Given the description of an element on the screen output the (x, y) to click on. 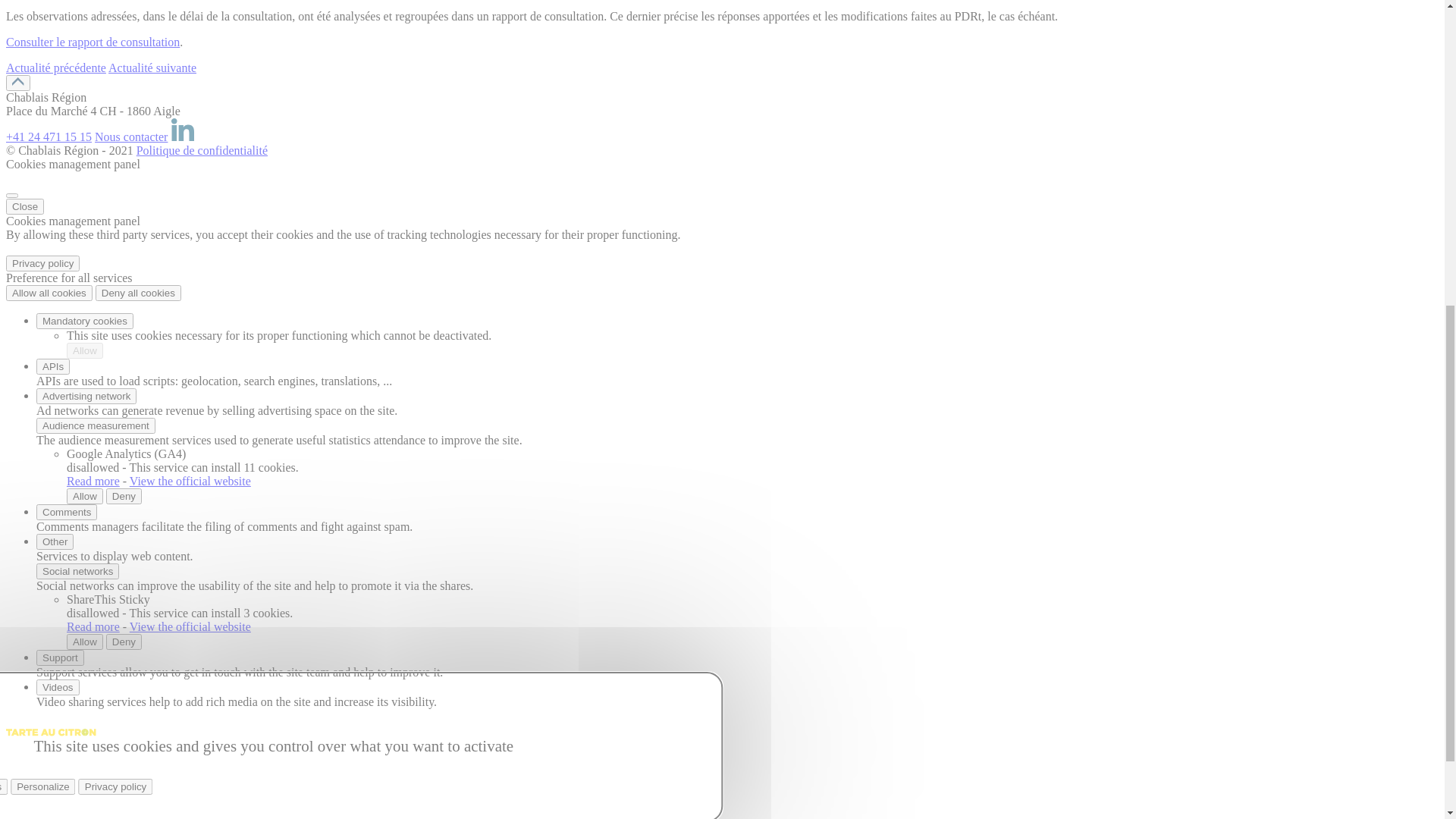
Aller sur le portail immobilier Element type: hover (17, 317)
Gouvernance Element type: text (98, 195)
Nos projets Element type: text (94, 263)
Qui sommes-nous Element type: text (110, 31)
Soutien aux manifestations Element type: text (131, 168)
Pour la population Element type: text (111, 222)
Carte interactive Element type: text (106, 250)
Pour les Communes Element type: text (115, 209)
Consulter le rapport de consultation Element type: text (92, 570)
Aller sur la page d'accueil Element type: hover (83, 371)
Close Element type: hover (12, 724)
Portail immobilier Element type: text (111, 86)
+41 24 471 15 15 Element type: text (48, 665)
Agenda Element type: text (85, 45)
Nous contacter Element type: text (130, 665)
Voir notre profil Linkedin Element type: hover (182, 665)
Rechercher des biens Element type: text (117, 113)
Projets Element type: text (52, 236)
Close Element type: text (24, 735)
Pour les porteurs de projets Element type: text (102, 127)
Privacy policy Element type: text (42, 792)
Pour les entrepreneurs Element type: text (90, 72)
